Given the description of an element on the screen output the (x, y) to click on. 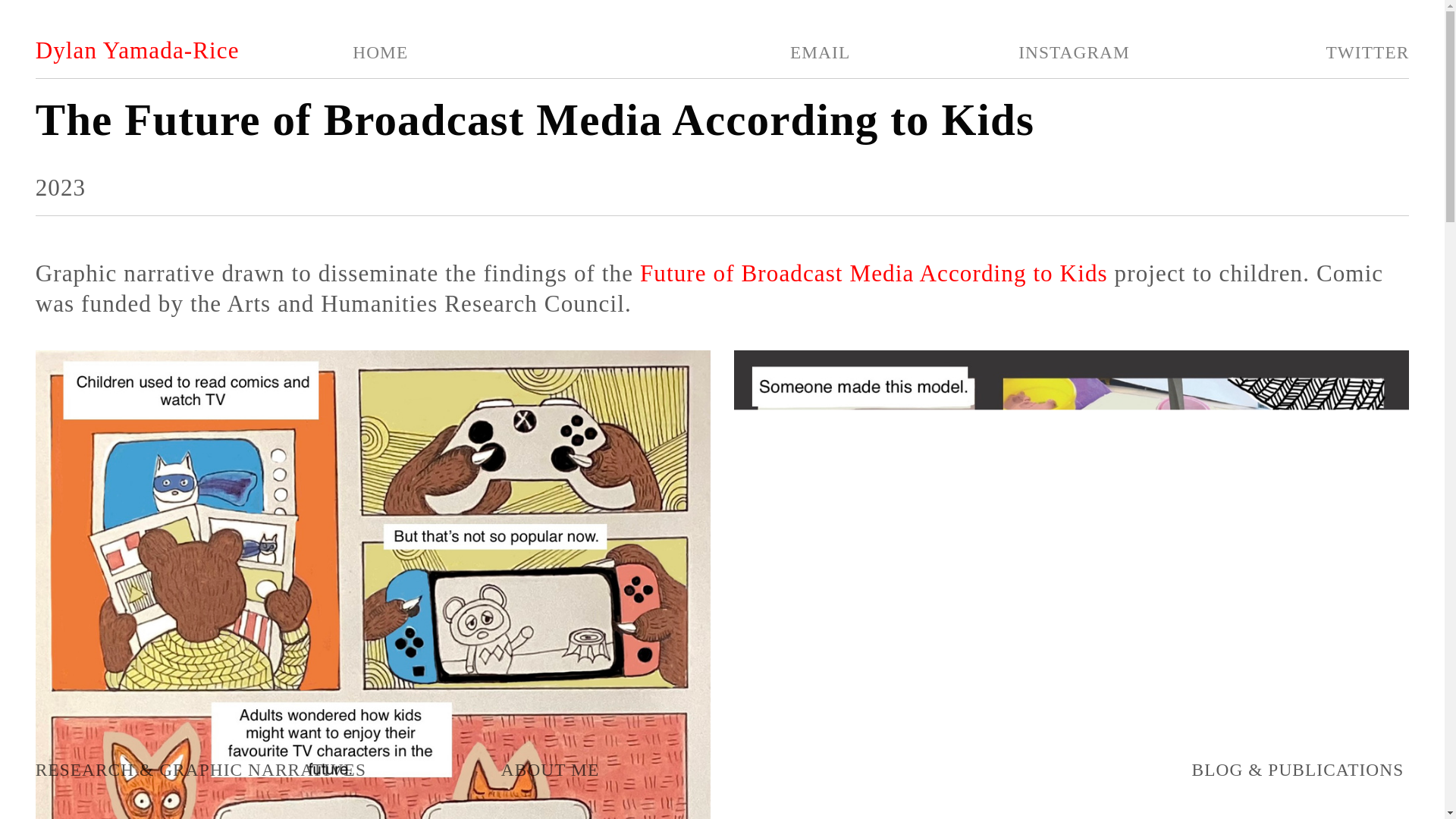
EMAIL (820, 52)
  HOME (374, 52)
Future of Broadcast Media According to Kids (874, 274)
INSTAGRAM (1073, 52)
ABOUT ME (549, 770)
TWITTER (1366, 52)
Dylan Yamada-Rice (137, 50)
